Given the description of an element on the screen output the (x, y) to click on. 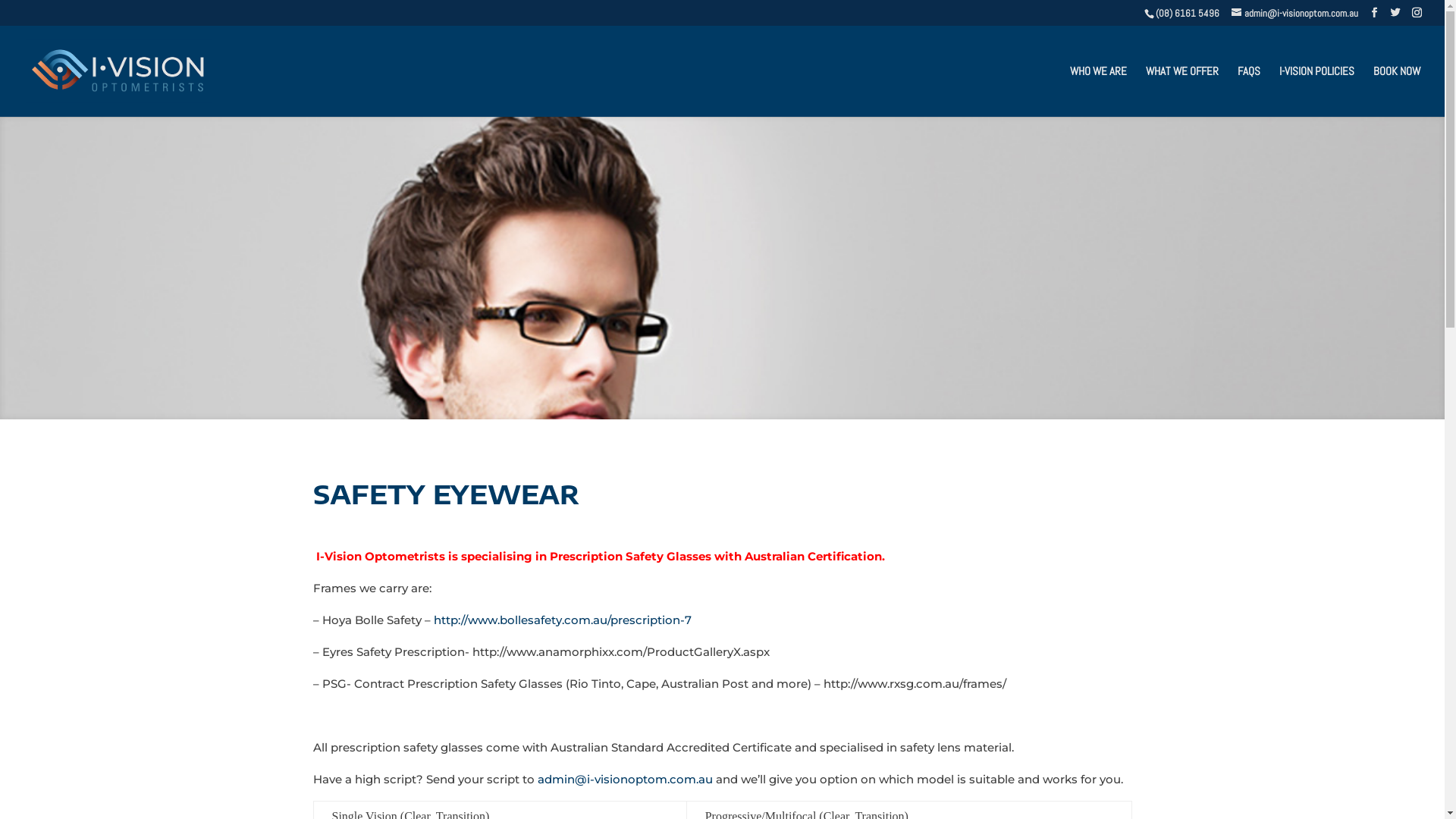
http://www.bollesafety.com.au/prescription-7 Element type: text (562, 619)
admin@i-visionoptom.com.au Element type: text (1294, 12)
admin@i-visionoptom.com.au Element type: text (624, 778)
WHAT WE OFFER Element type: text (1181, 90)
I-VISION POLICIES Element type: text (1316, 90)
FAQS Element type: text (1248, 90)
BOOK NOW Element type: text (1396, 90)
WHO WE ARE Element type: text (1098, 90)
